Given the description of an element on the screen output the (x, y) to click on. 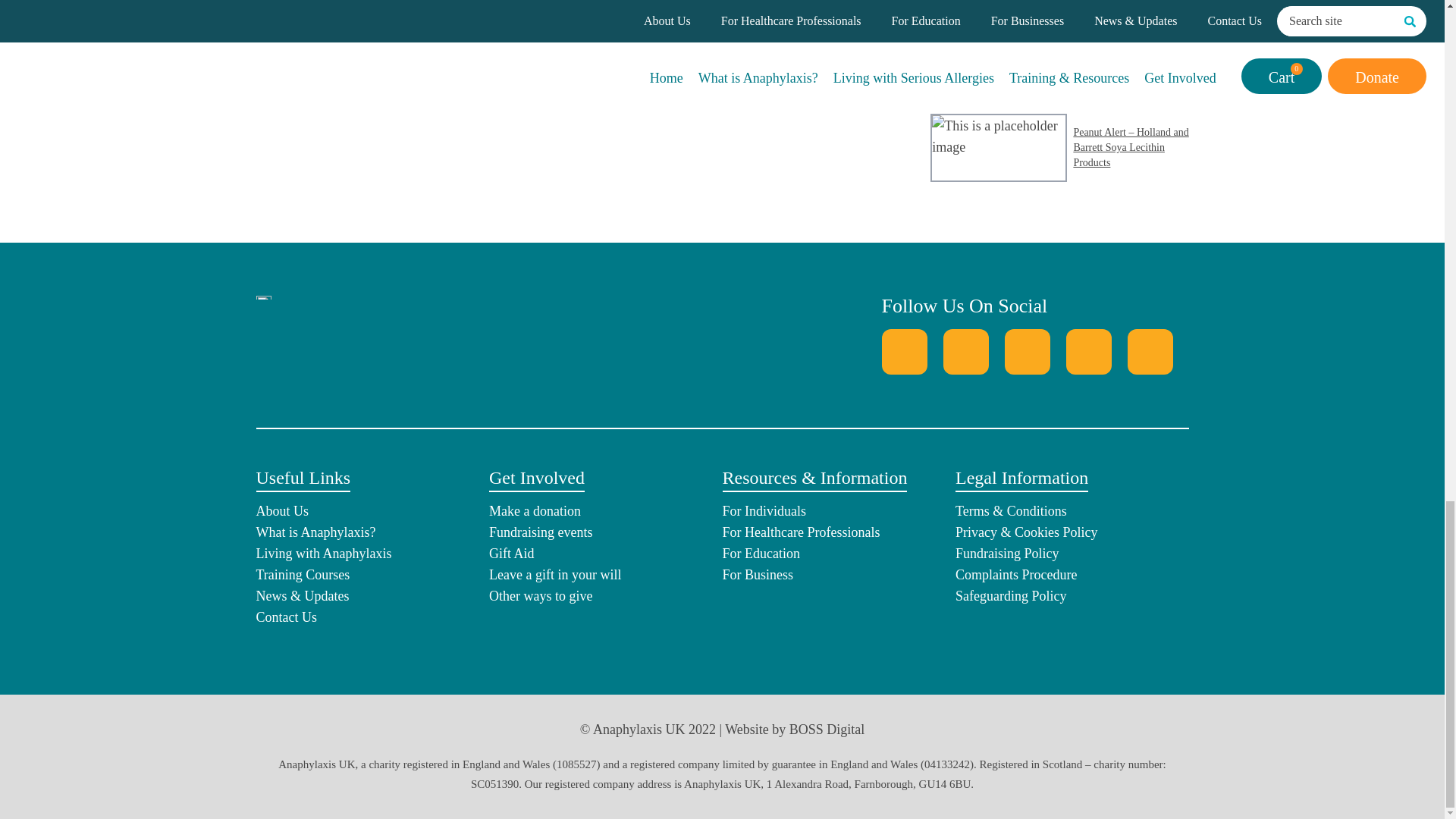
Youtube (1149, 351)
Linked In (1088, 351)
Twitter (965, 351)
Facebook (903, 351)
Instagram (1026, 351)
